Given the description of an element on the screen output the (x, y) to click on. 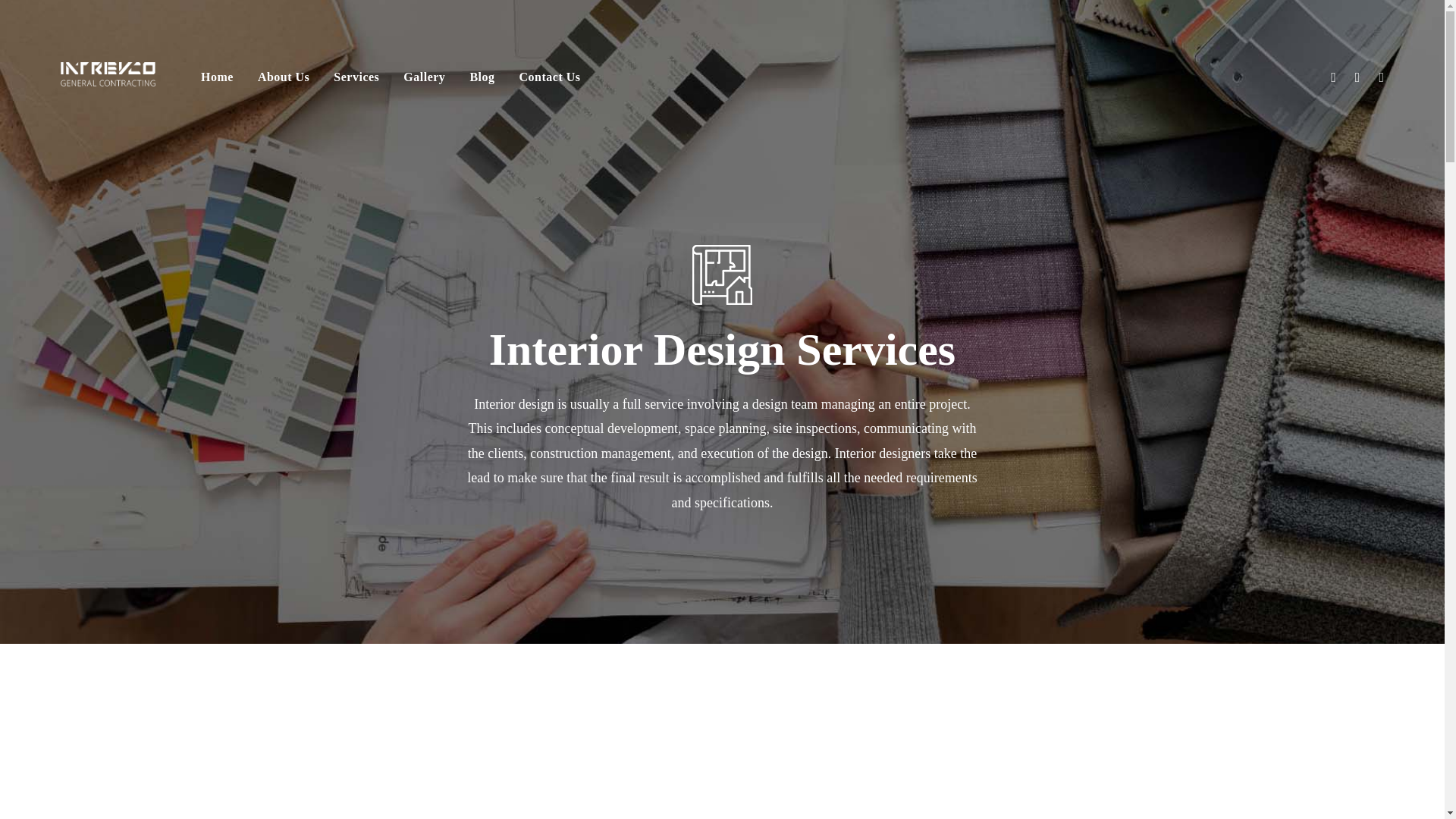
Contact Us (548, 84)
Interior-Design-Services (722, 274)
Home (216, 84)
About Us (282, 84)
Services (355, 84)
Gallery (424, 84)
Intrevco white logo (108, 74)
